Given the description of an element on the screen output the (x, y) to click on. 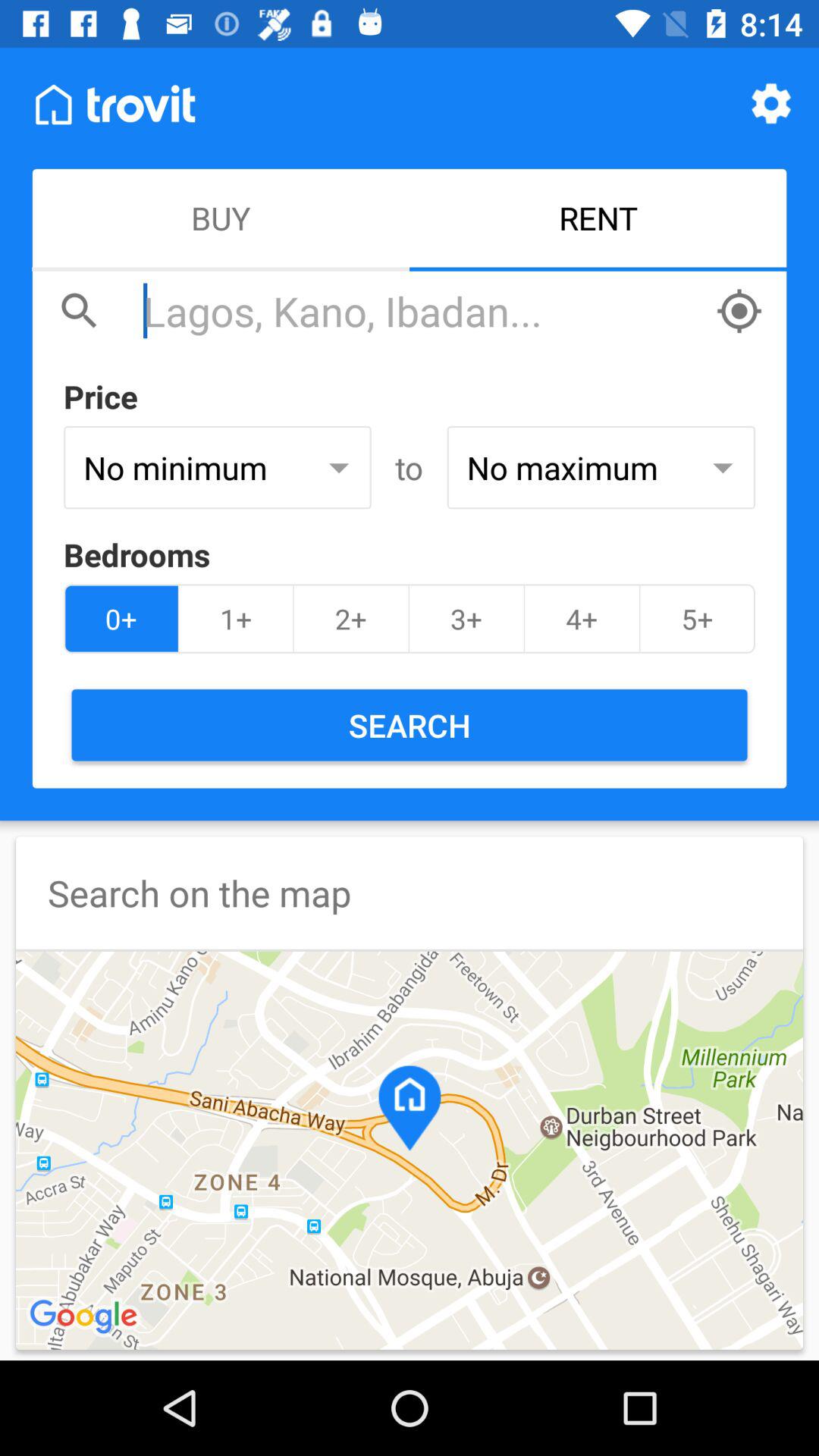
go to current location (739, 310)
